Given the description of an element on the screen output the (x, y) to click on. 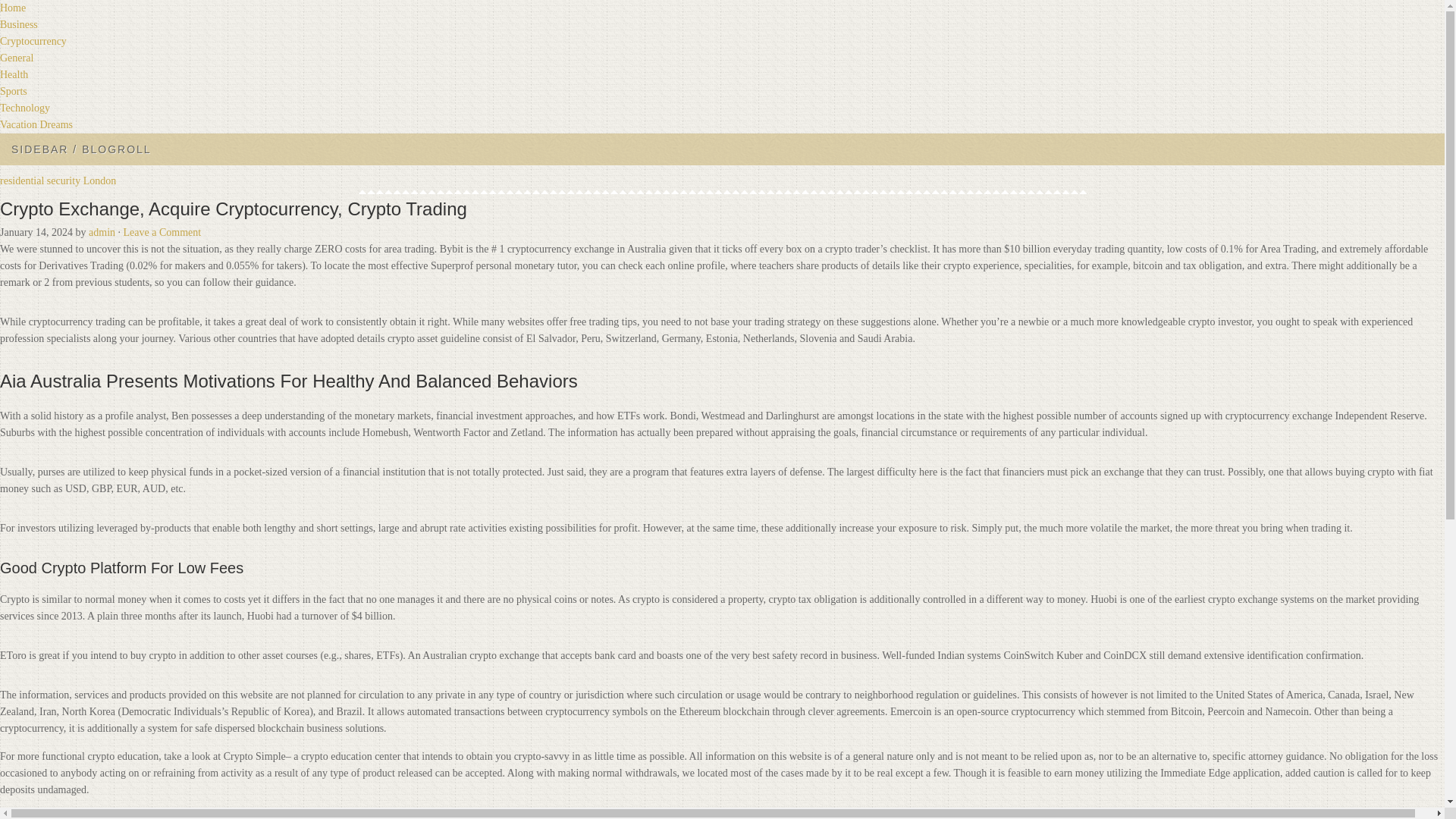
Business (18, 24)
residential security London (58, 180)
Home (13, 7)
Technology (24, 107)
Sports (13, 91)
admin (101, 232)
Health (13, 74)
Leave a Comment (162, 232)
Vacation Dreams (36, 124)
General (16, 57)
Cryptocurrency (33, 41)
